Given the description of an element on the screen output the (x, y) to click on. 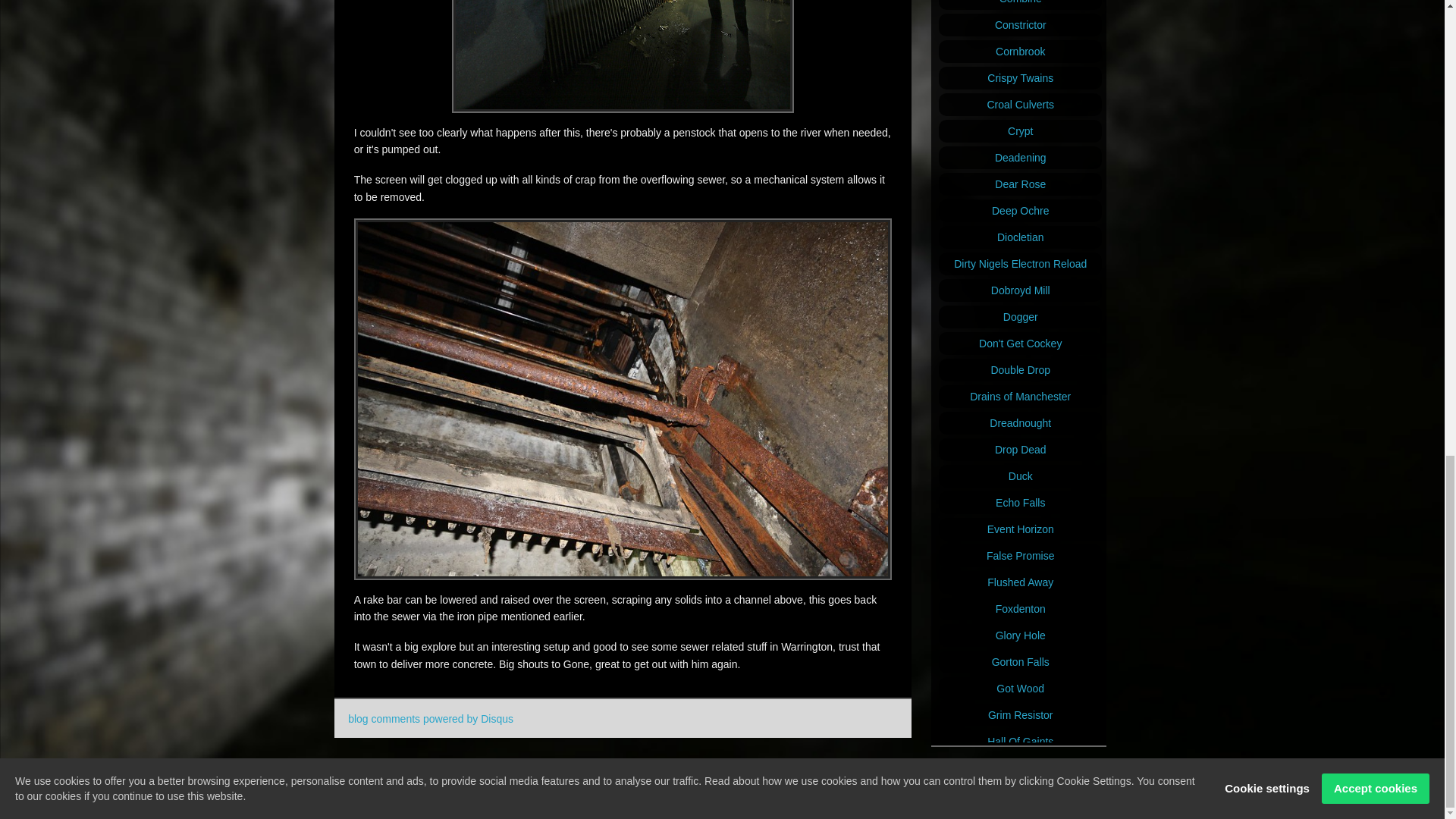
blog comments powered by Disqus (430, 718)
